Given the description of an element on the screen output the (x, y) to click on. 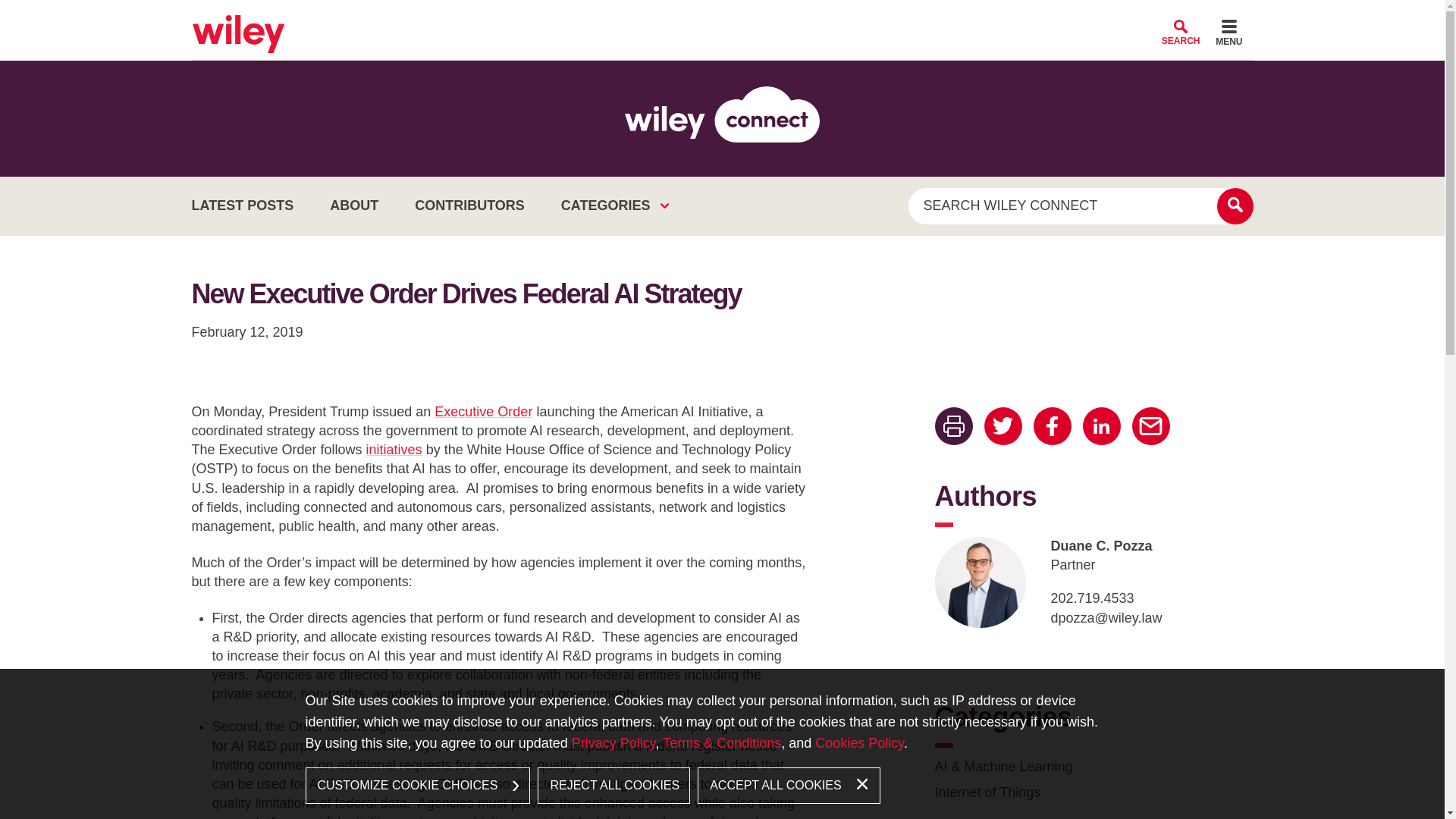
Email (1150, 426)
MENU (1228, 34)
SEARCH (1180, 32)
Menu (676, 17)
Menu (1228, 34)
Facebook (1051, 426)
Twitter (1003, 426)
Print (953, 426)
Cookie Settings (663, 17)
Main Menu (676, 17)
LinkedIn (1102, 426)
Main Content (669, 17)
